Given the description of an element on the screen output the (x, y) to click on. 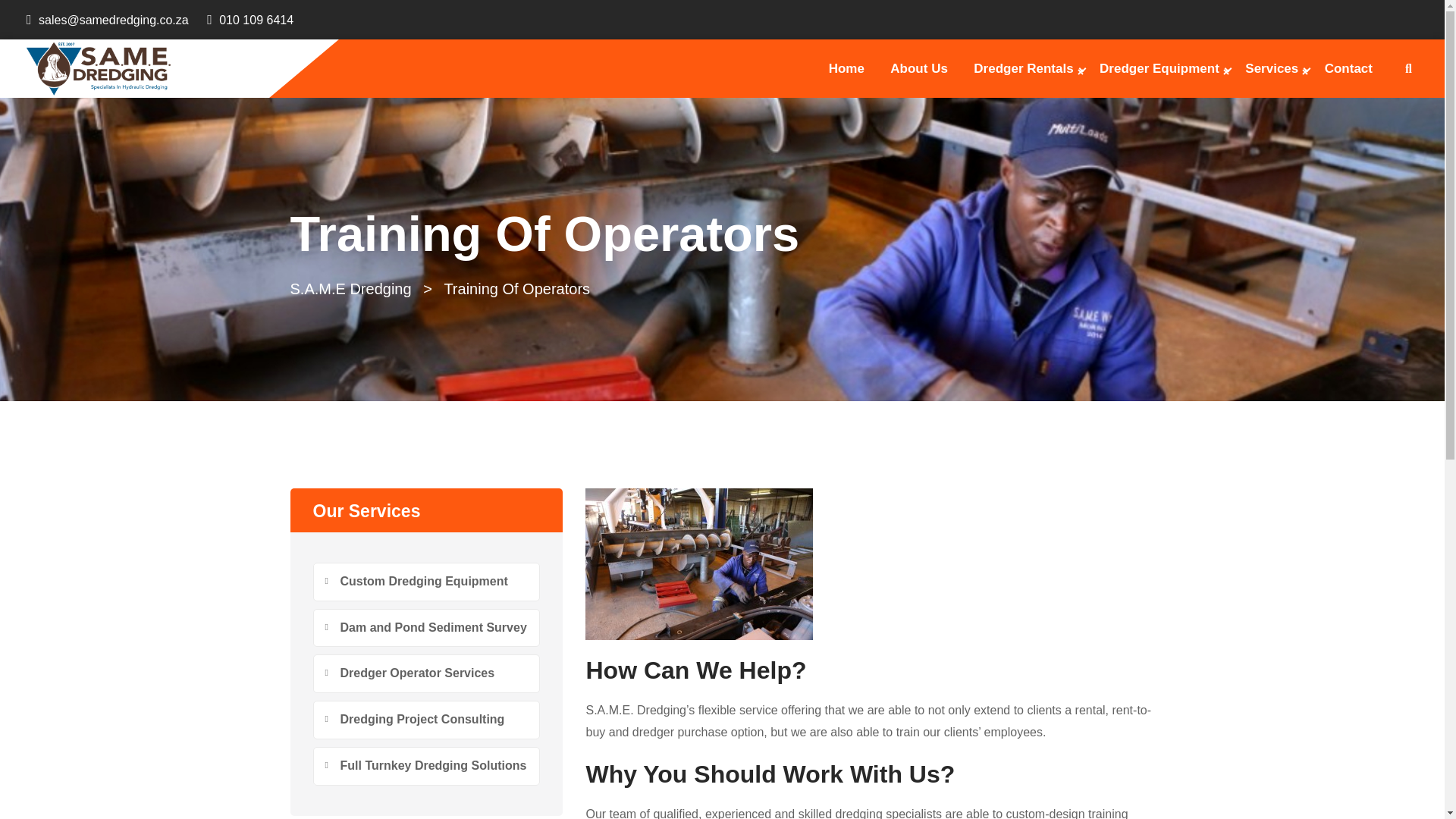
Contact (1348, 68)
Custom Dredging Equipment (426, 581)
Dredging Project Consulting (426, 720)
Dredger Operator Services (426, 673)
Home (846, 68)
Dredger Equipment (1158, 68)
010 109 6414 (256, 20)
Dam and Pond Sediment Survey (426, 628)
About Us (919, 68)
Services (1270, 68)
